Given the description of an element on the screen output the (x, y) to click on. 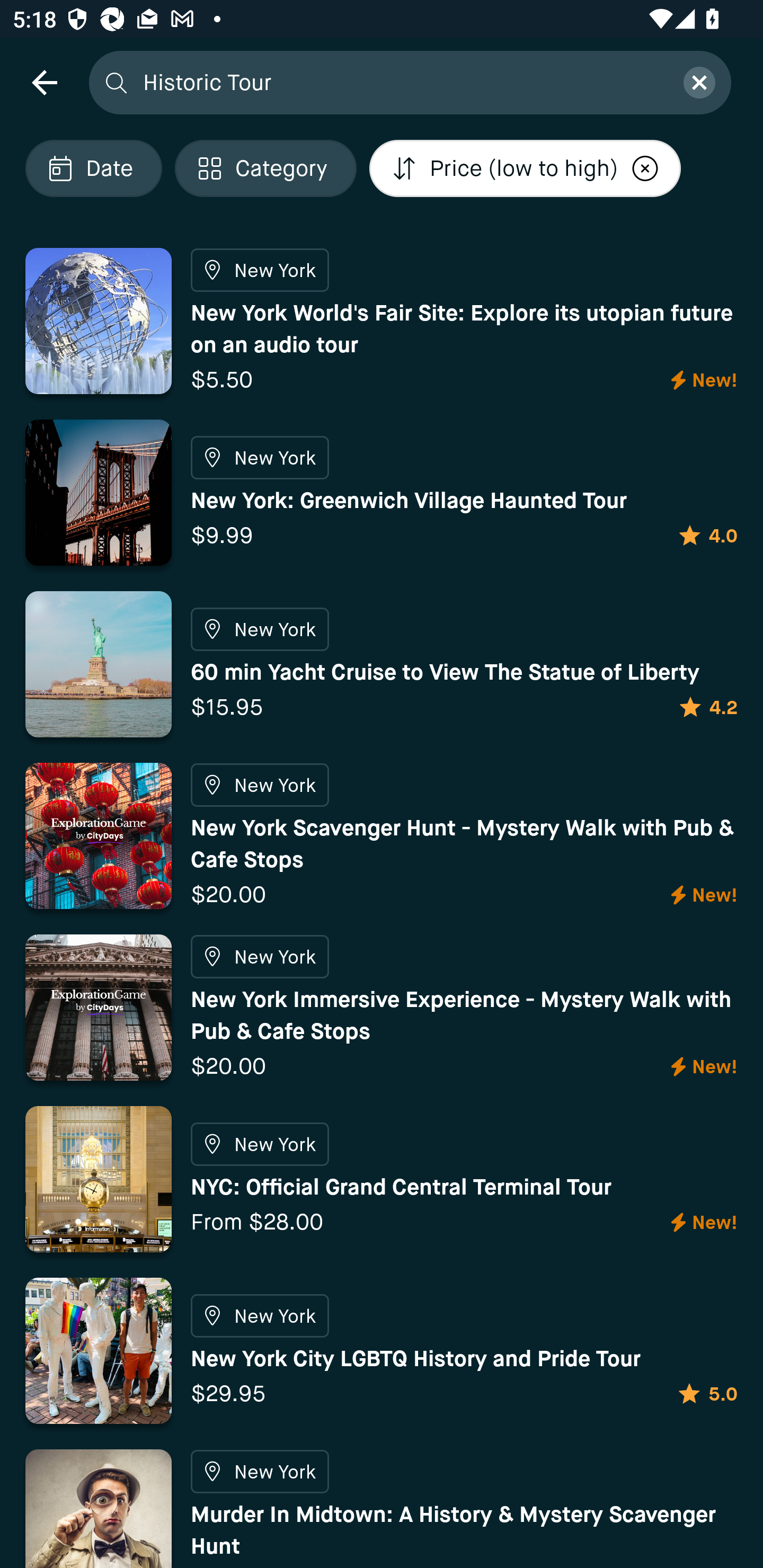
navigation icon (44, 81)
Historic Tour (402, 81)
Localized description Date (93, 168)
Localized description Category (265, 168)
Localized description (645, 168)
